Given the description of an element on the screen output the (x, y) to click on. 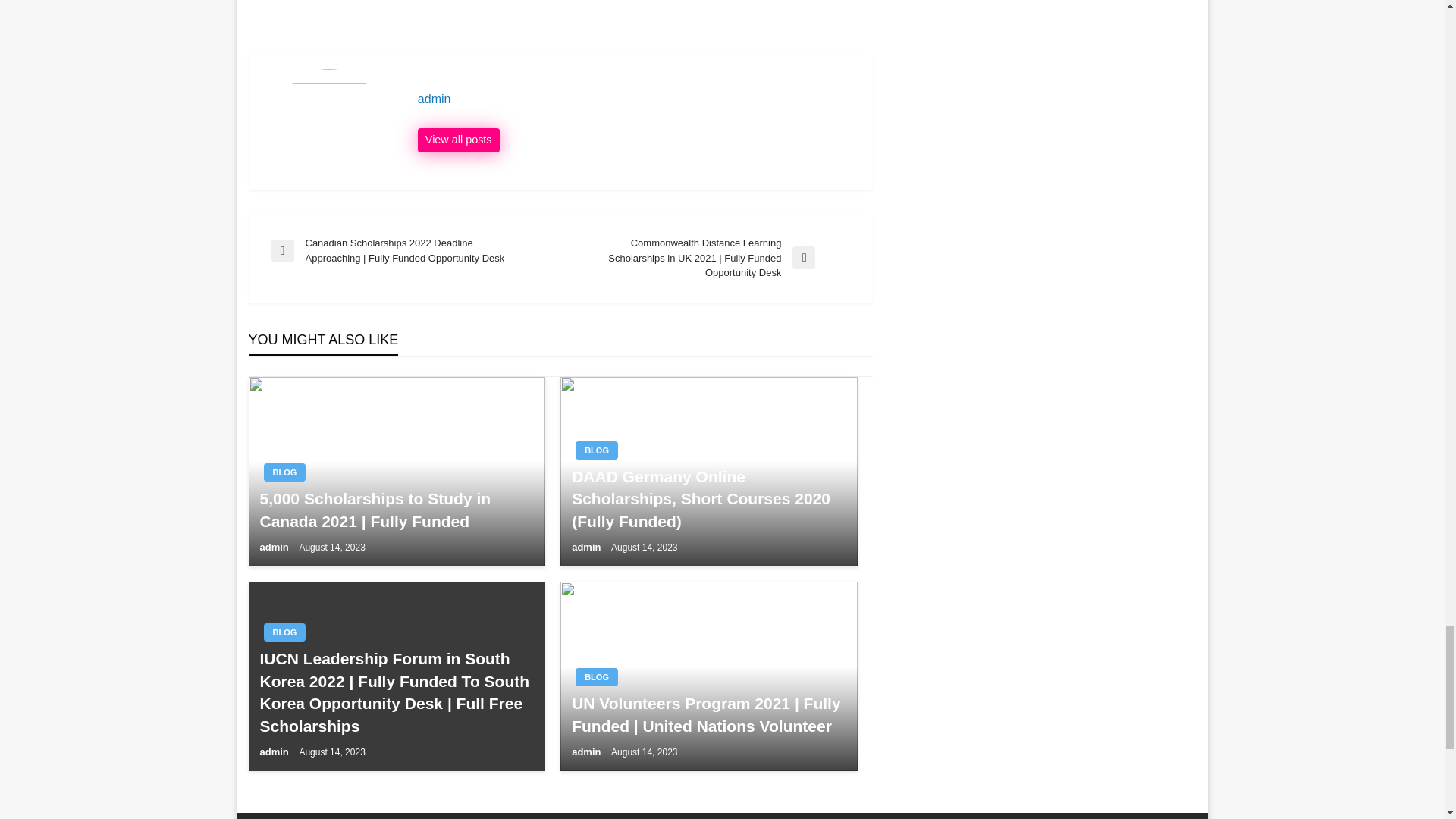
admin (637, 99)
